Given the description of an element on the screen output the (x, y) to click on. 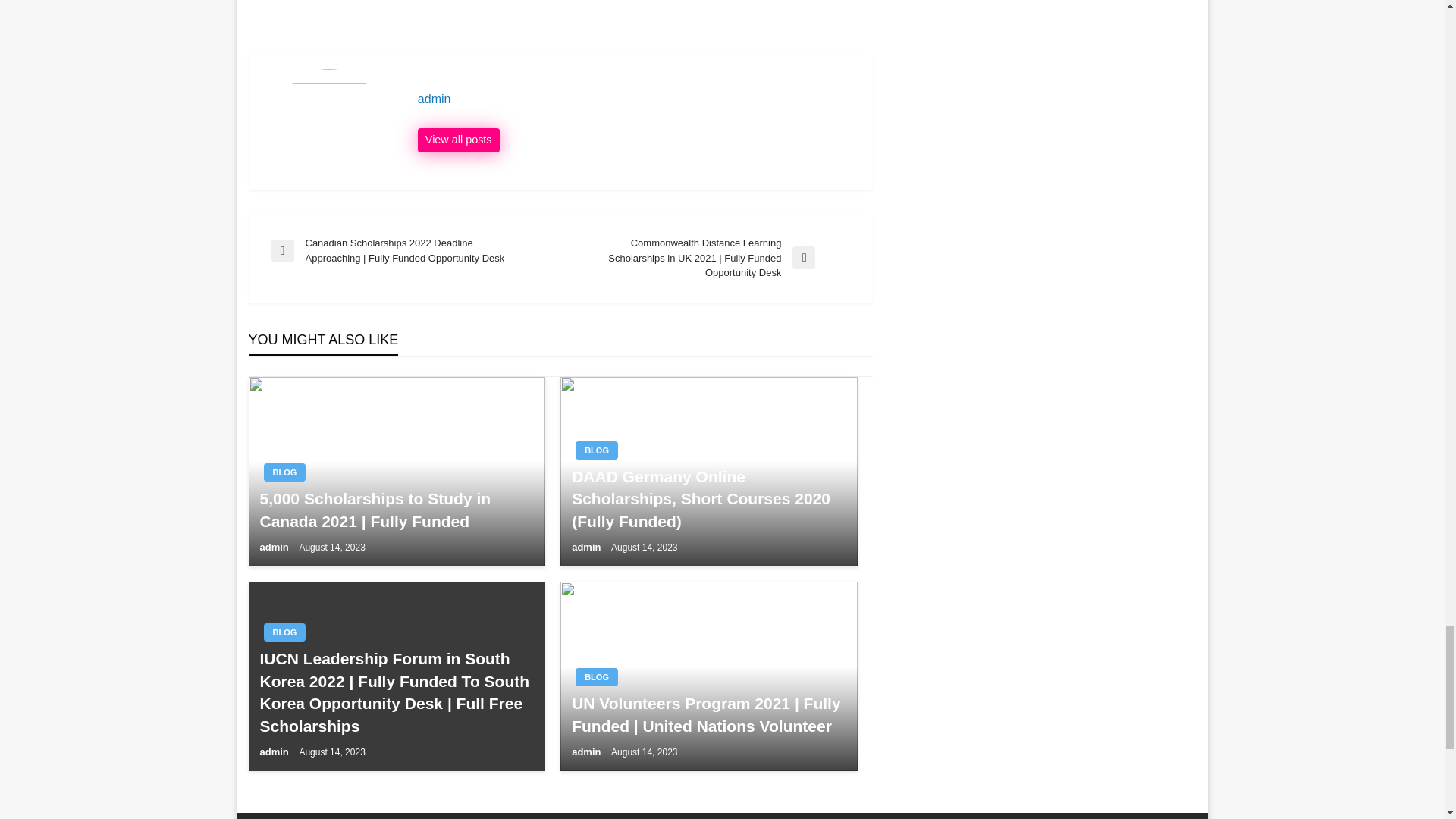
admin (637, 99)
